Given the description of an element on the screen output the (x, y) to click on. 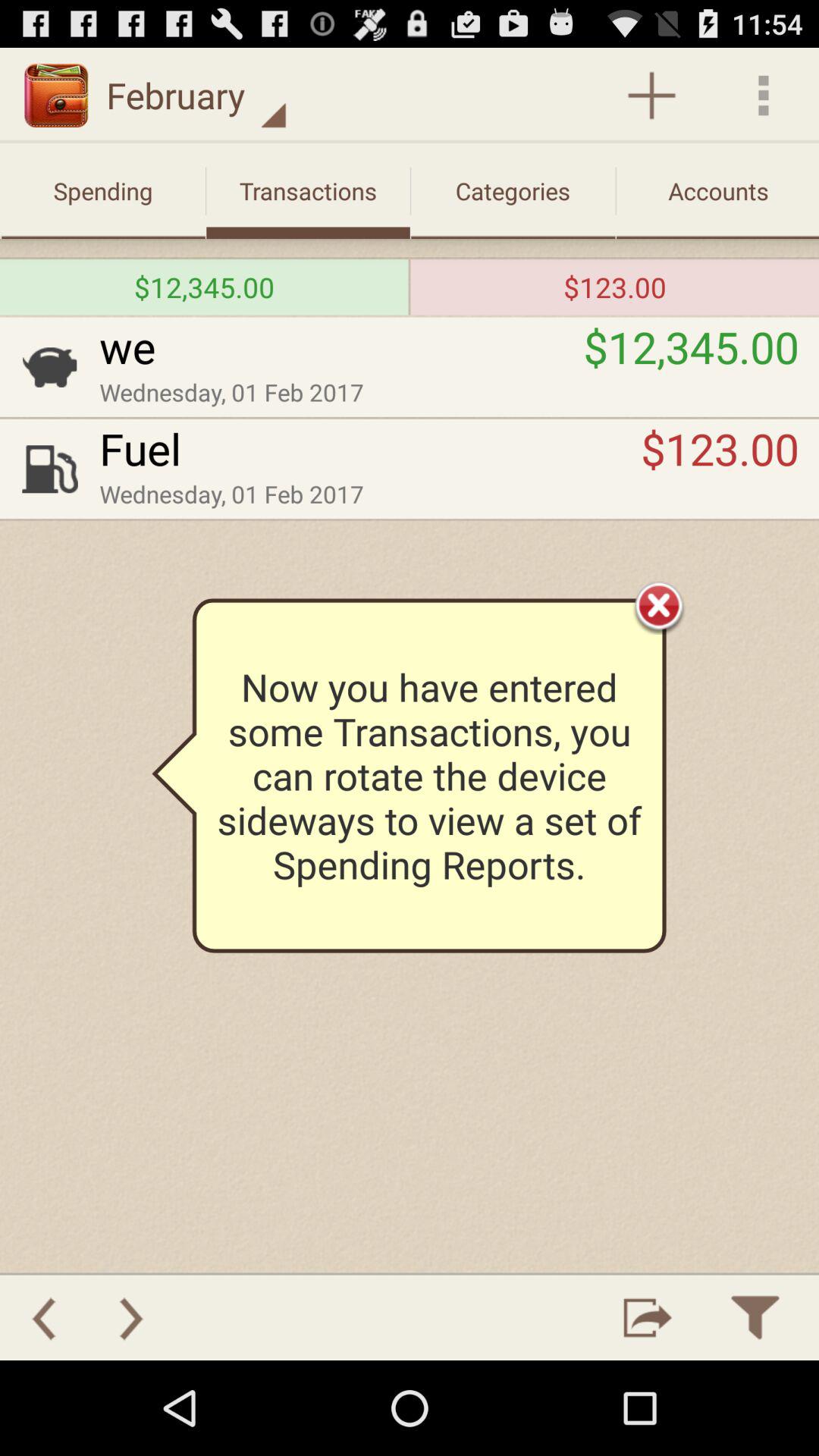
jump until the february button (196, 95)
